Given the description of an element on the screen output the (x, y) to click on. 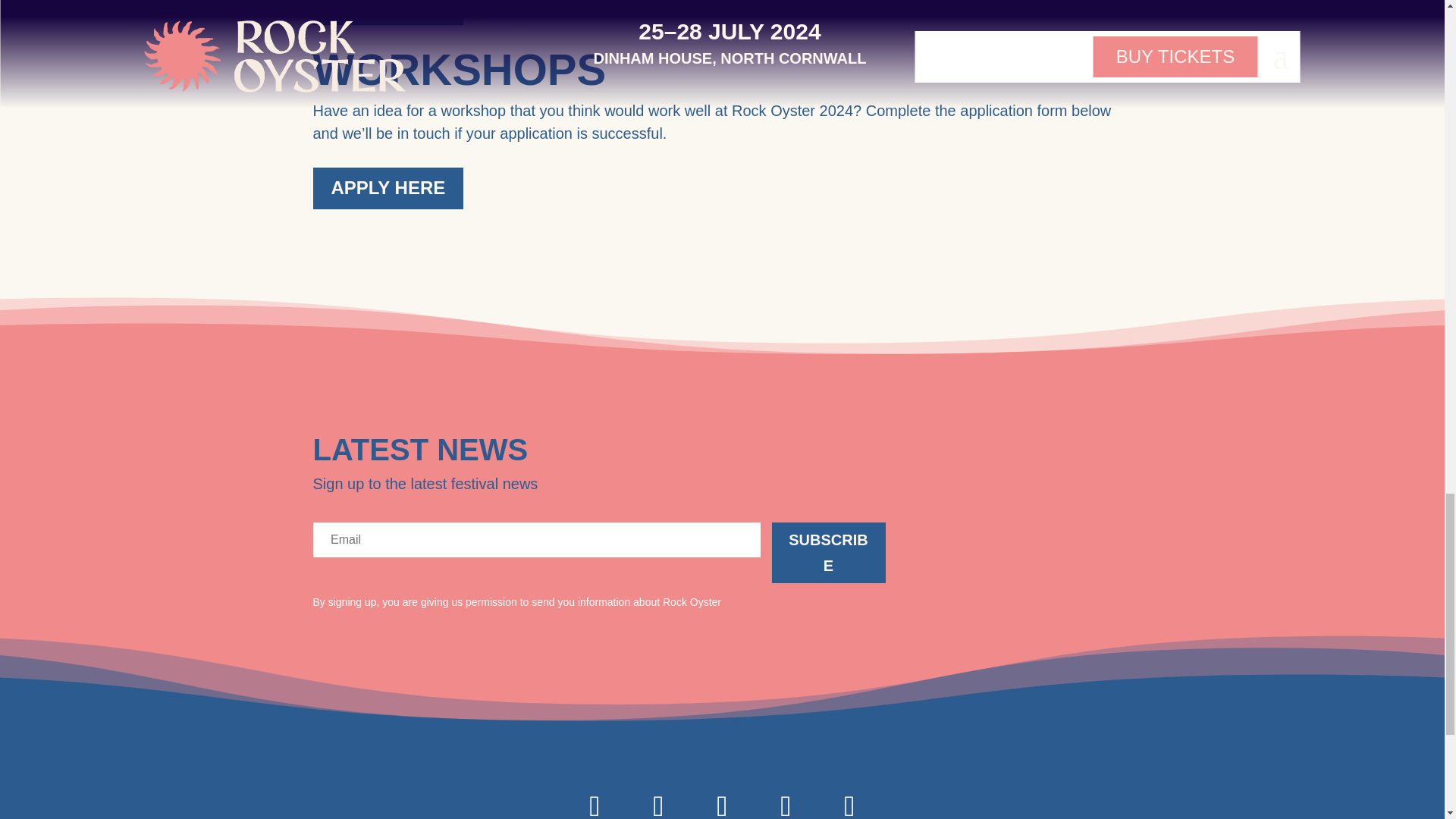
Follow on X (657, 798)
Follow on Facebook (722, 798)
Follow on Instagram (594, 798)
Follow on TikTok (849, 798)
Follow on Spotify (785, 798)
